Given the description of an element on the screen output the (x, y) to click on. 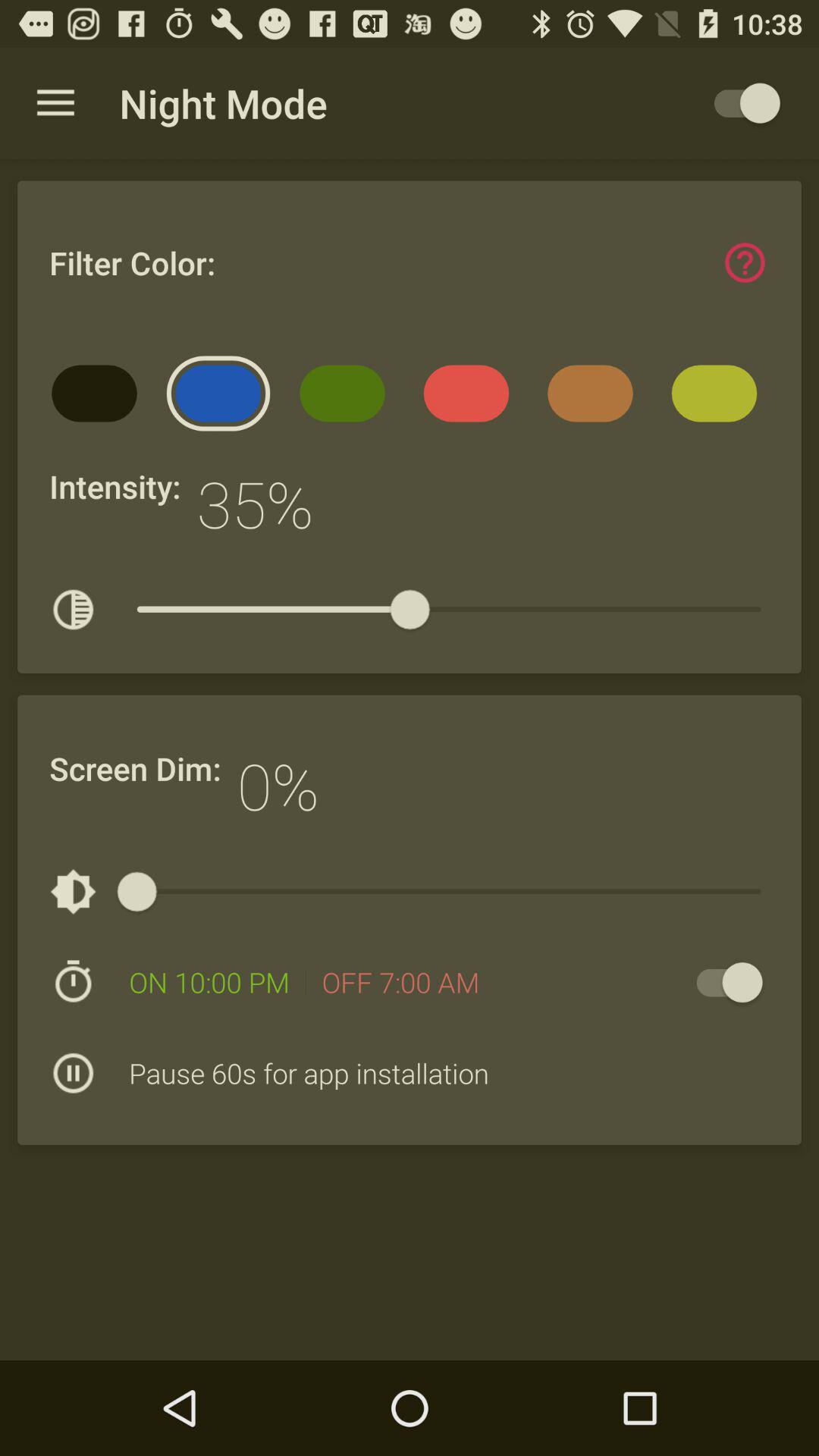
turn on/ off night mode (739, 103)
